Given the description of an element on the screen output the (x, y) to click on. 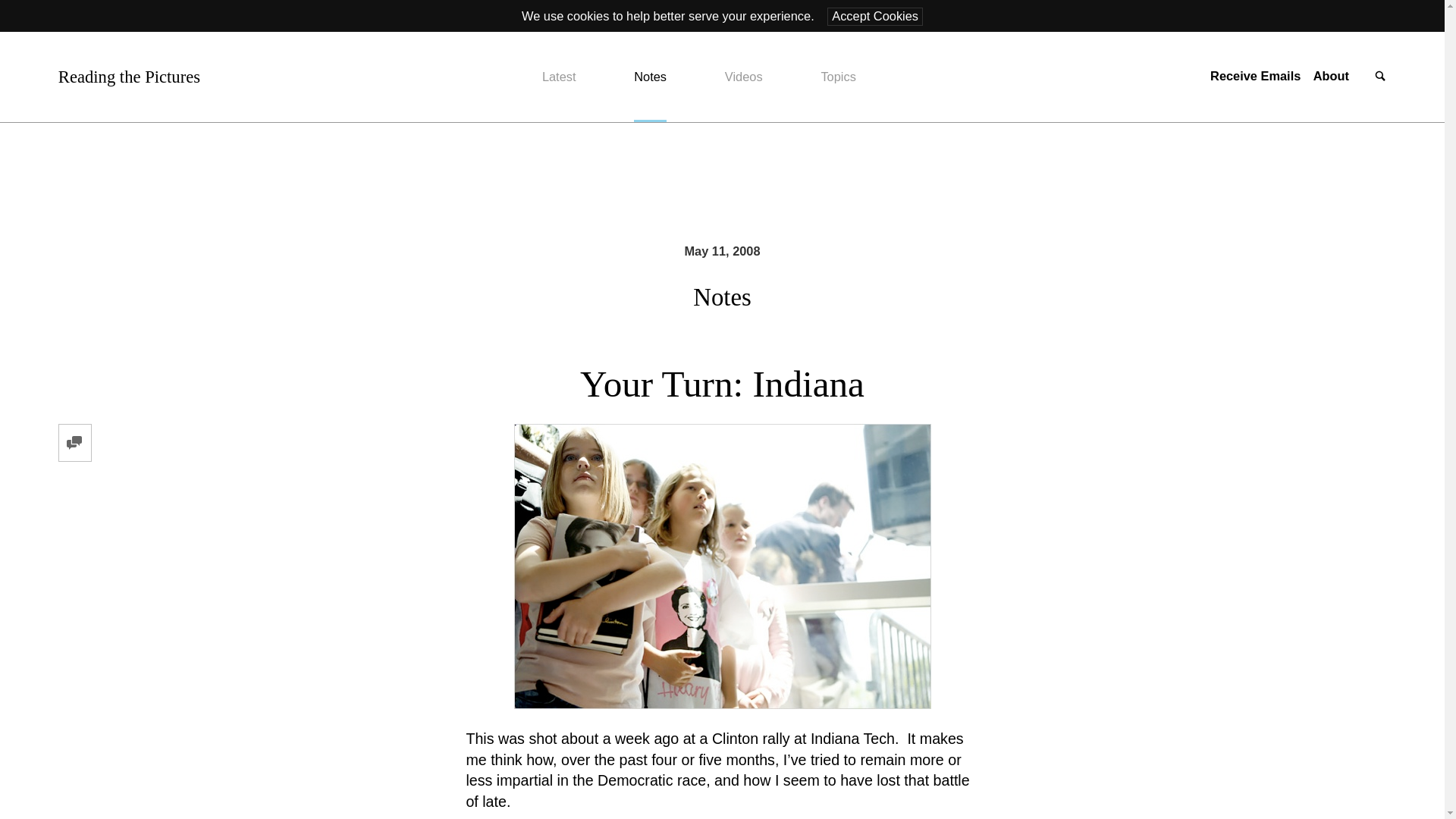
Receive Emails (1254, 75)
Accept Cookies (875, 16)
Reading the Pictures (129, 76)
Reading the Pictures (129, 76)
About (1331, 75)
About (1331, 75)
search (1380, 78)
Newsletter Signup (1254, 75)
